Given the description of an element on the screen output the (x, y) to click on. 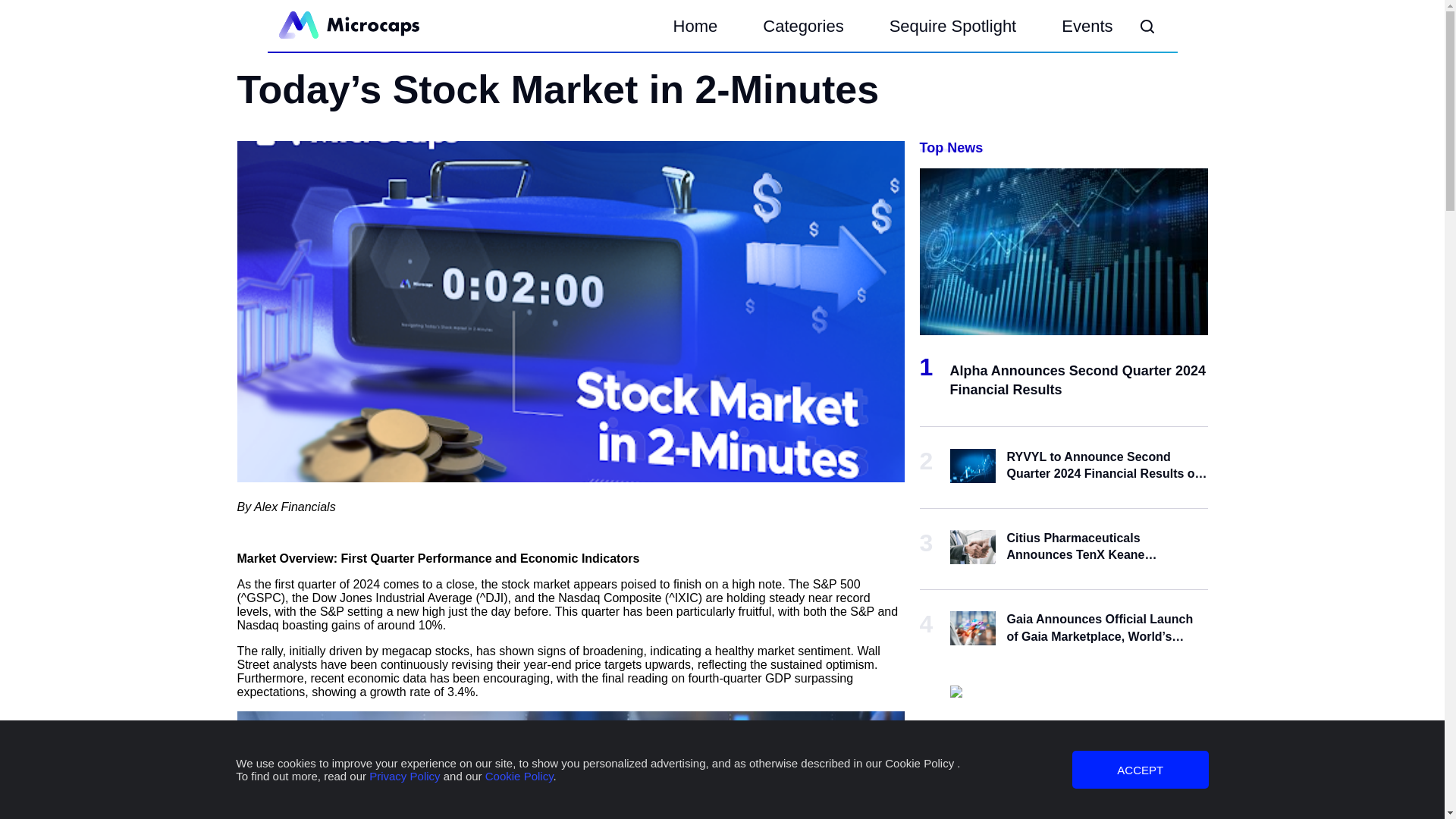
Events (1087, 26)
Categories (802, 26)
Sequire Spotlight (952, 26)
Home (695, 26)
